Given the description of an element on the screen output the (x, y) to click on. 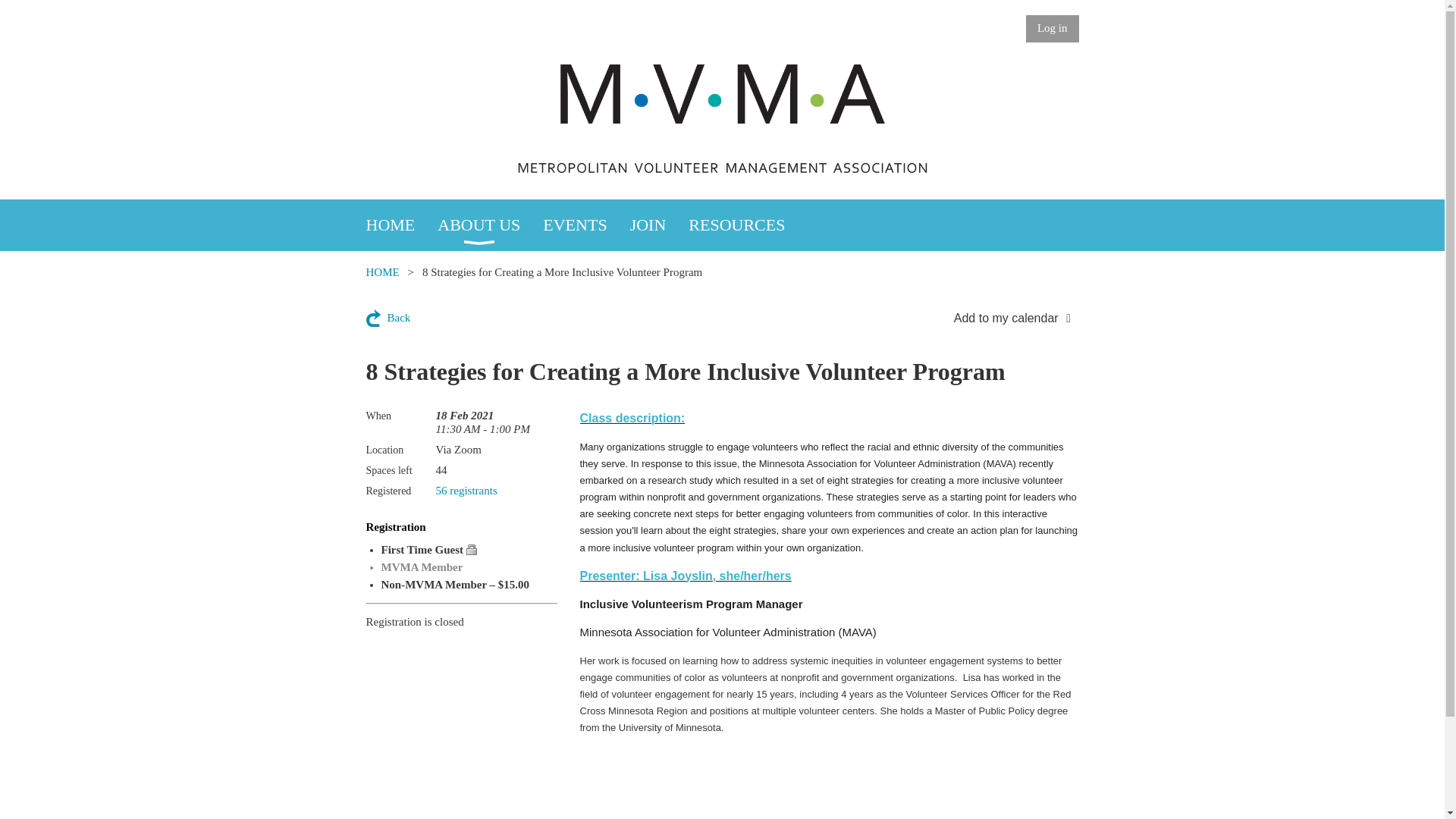
ABOUT US (490, 224)
HOME (401, 224)
JOIN (659, 224)
Log in (1052, 28)
HOME (381, 272)
RESOURCES (748, 224)
HOME (401, 224)
EVENTS (585, 224)
EVENTS (585, 224)
ABOUT US (490, 224)
JOIN (659, 224)
56 registrants (465, 490)
RESOURCES (748, 224)
Back (387, 317)
